Given the description of an element on the screen output the (x, y) to click on. 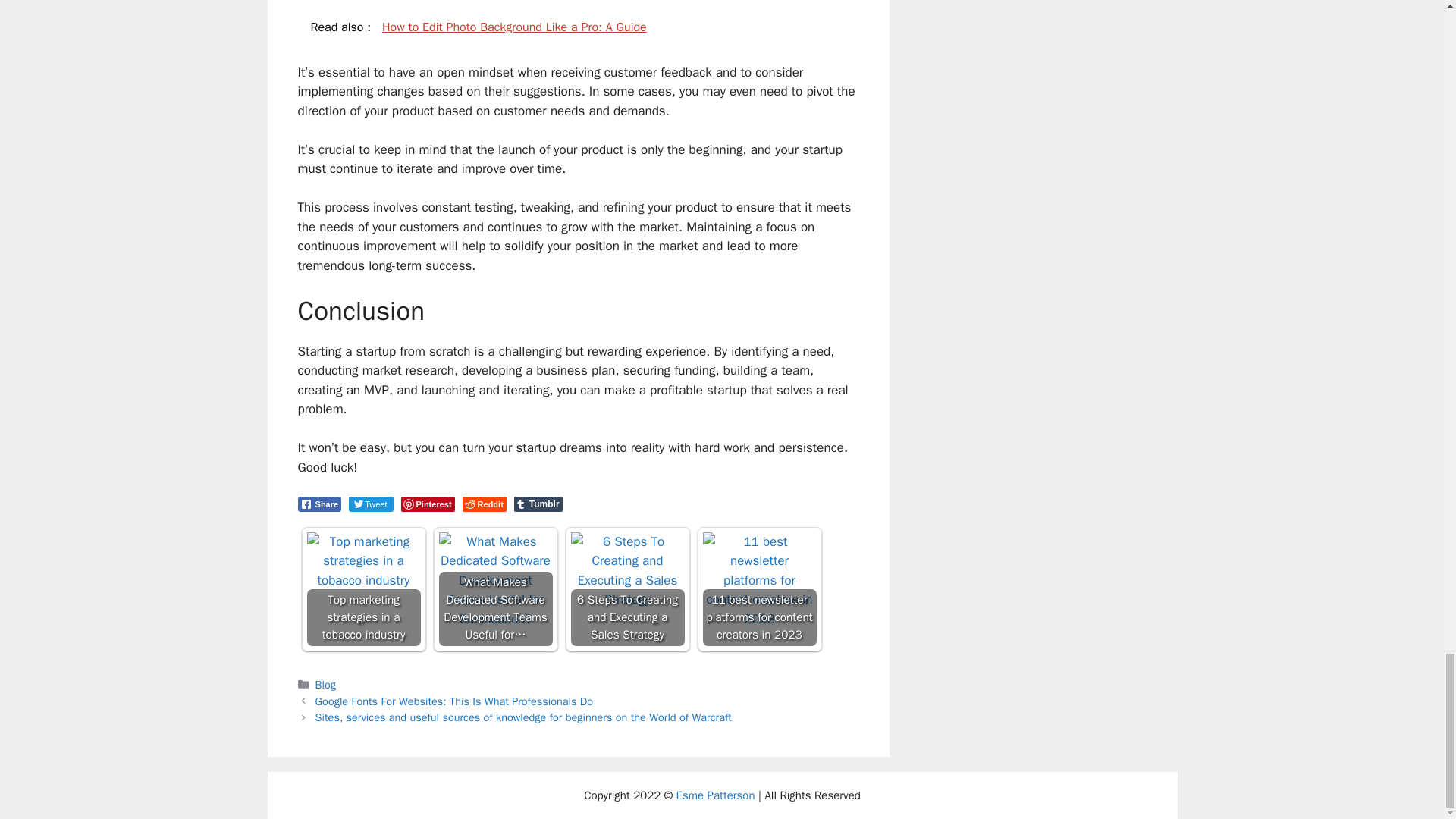
Reddit (484, 503)
11 best newsletter platforms for content creators in 2023 (758, 589)
6 Steps To Creating and Executing a Sales Strategy (627, 589)
Tweet (371, 503)
Tumblr (537, 503)
Share (318, 503)
Top marketing strategies in a tobacco industry (362, 561)
Blog (325, 684)
Pinterest (427, 503)
11 best newsletter platforms for content creators in 2023 (758, 580)
Top marketing strategies in a tobacco industry (362, 589)
6 Steps To Creating and Executing a Sales Strategy (627, 570)
